Given the description of an element on the screen output the (x, y) to click on. 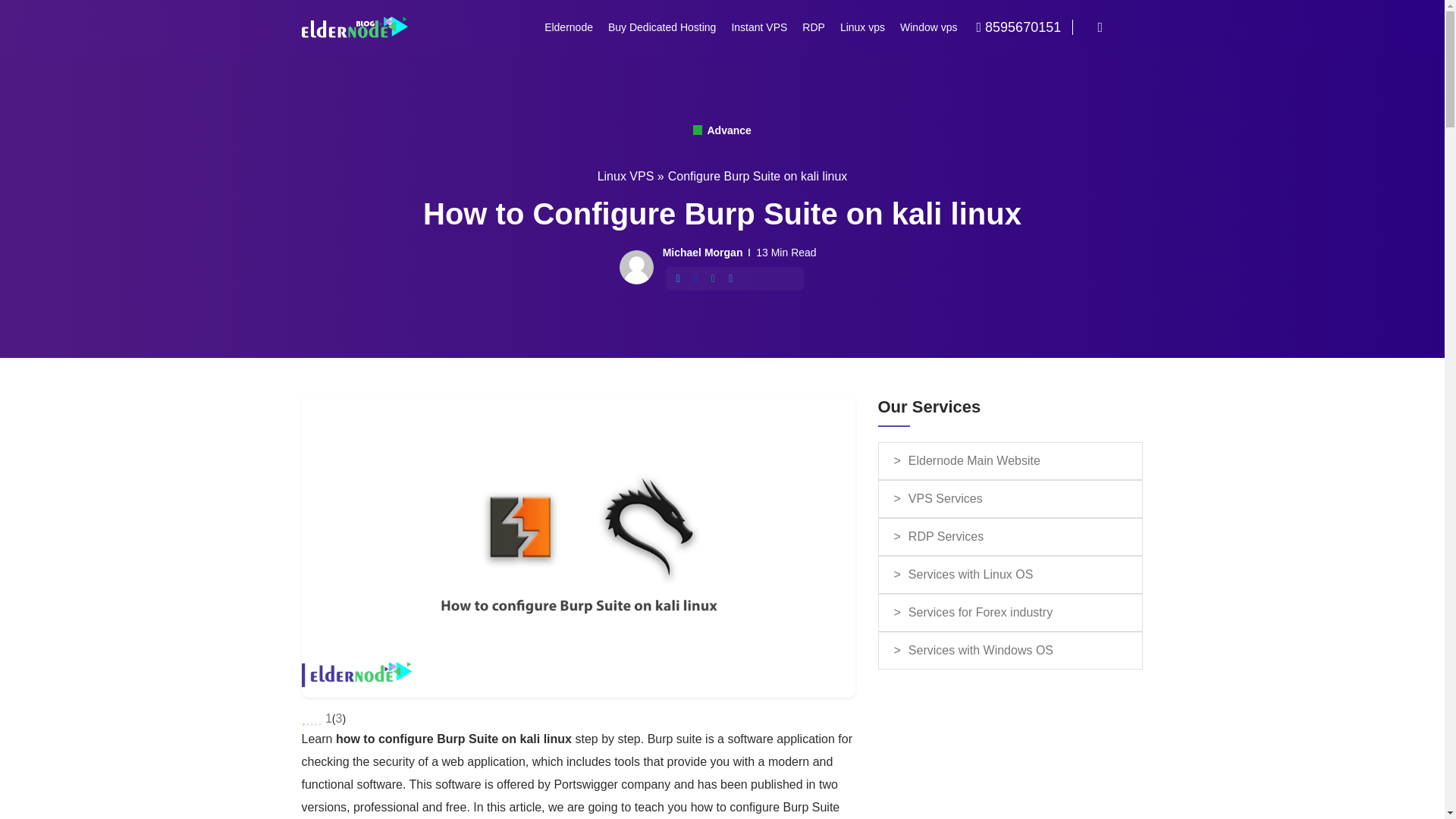
Instant VPS (758, 27)
Window vps (927, 27)
Linux vps (862, 27)
Michael Morgan (702, 252)
Buy Dedicated Hosting (661, 27)
Linux VPS (624, 176)
RDP (813, 27)
Advance (722, 130)
Eldernode (568, 27)
